Given the description of an element on the screen output the (x, y) to click on. 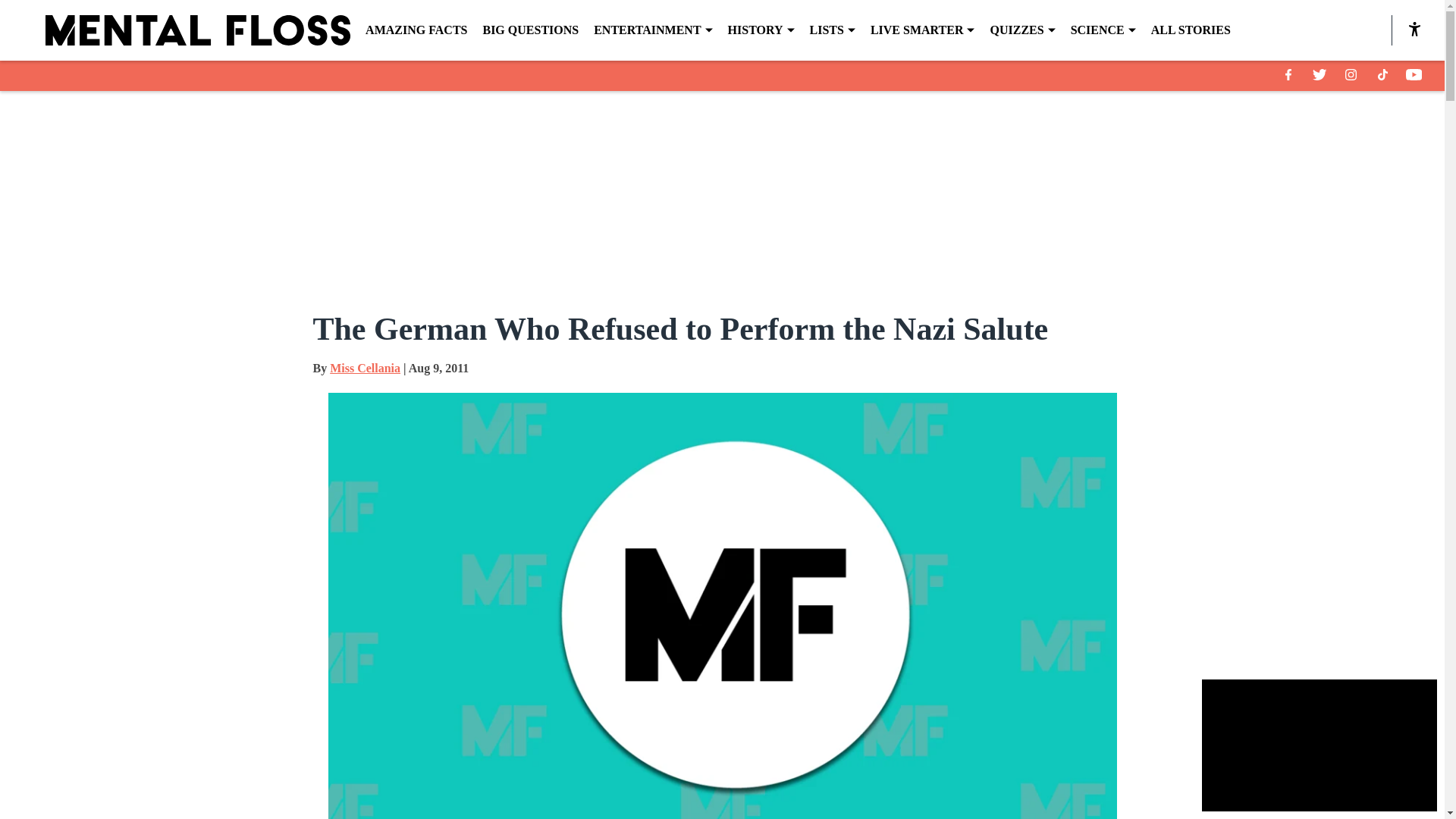
AMAZING FACTS (416, 30)
ALL STORIES (1190, 30)
BIG QUESTIONS (529, 30)
